Given the description of an element on the screen output the (x, y) to click on. 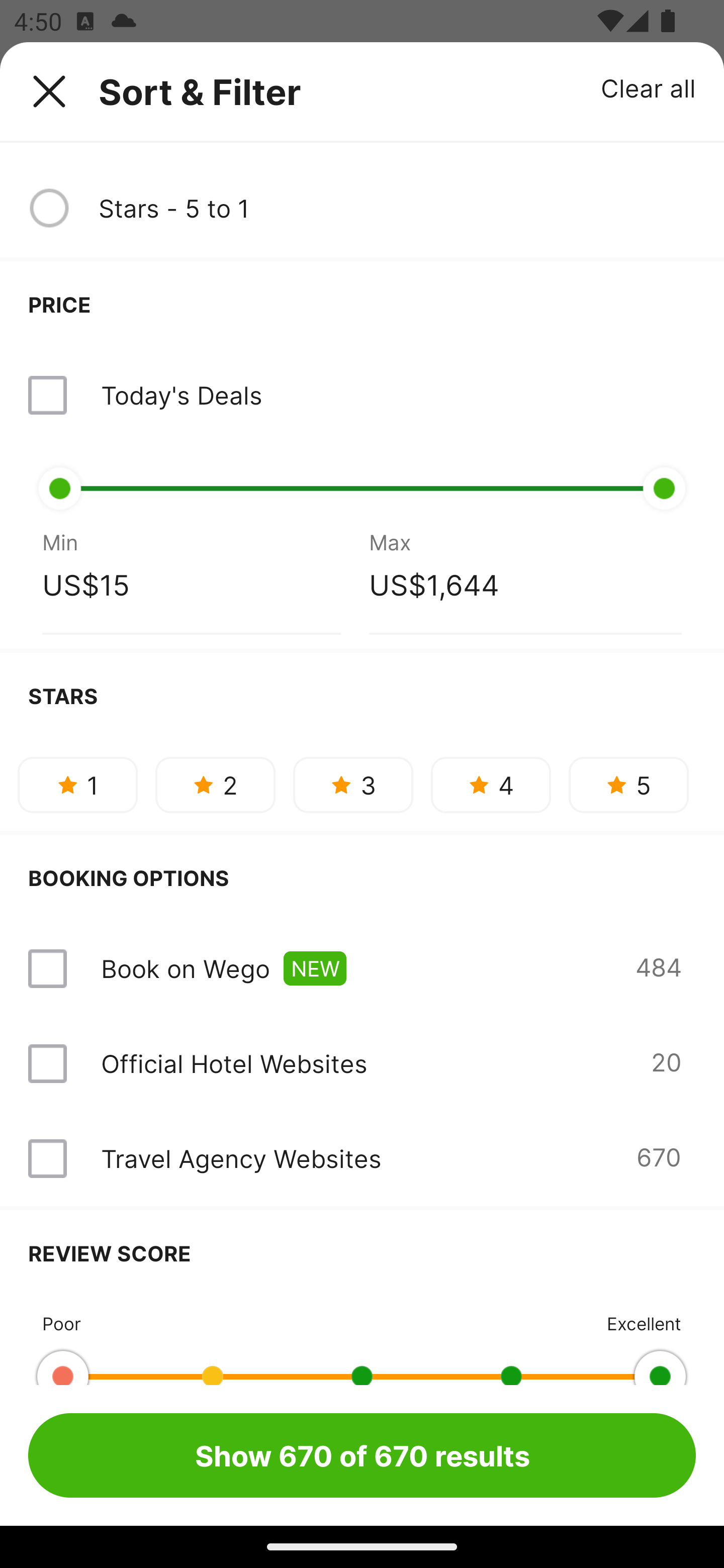
Clear all (648, 87)
Stars - 5 to 1 (396, 207)
Today's Deals (362, 395)
Today's Deals (181, 394)
1 (77, 785)
2 (214, 785)
3 (352, 785)
4 (491, 785)
5 (627, 785)
Book on Wego NEW 484 (362, 968)
Book on Wego (184, 968)
Official Hotel Websites 20 (362, 1063)
Official Hotel Websites (233, 1062)
Travel Agency Websites 670 (362, 1158)
Travel Agency Websites (240, 1158)
Poor Excellent (362, 1340)
Show 670 of 670 results (361, 1454)
